Given the description of an element on the screen output the (x, y) to click on. 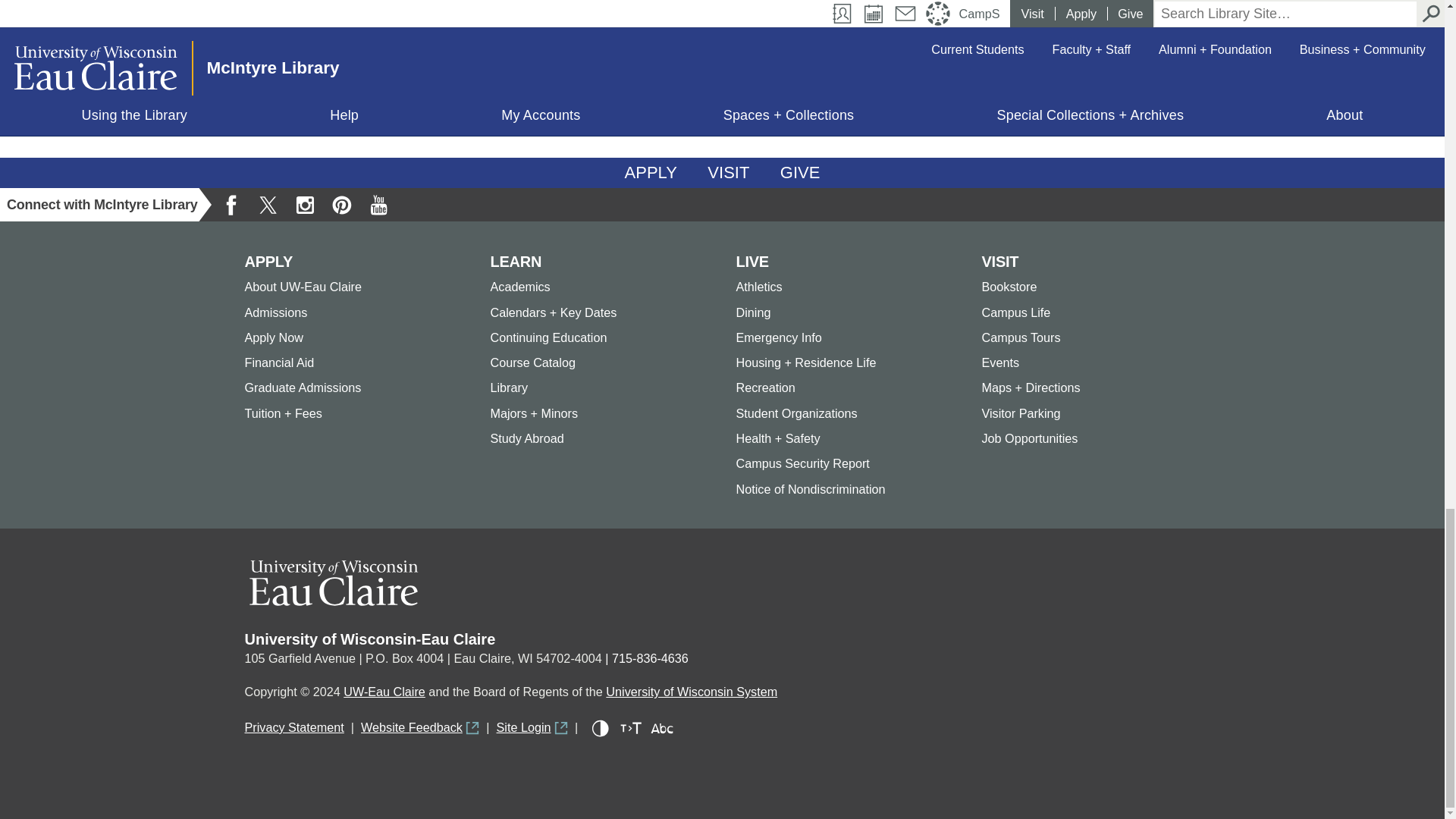
Follow us on Pinterest (341, 204)
Give Now (800, 173)
Increase text size (630, 728)
Like us on Facebook (230, 204)
Change font for dyslexia (661, 728)
Plan a Visit (728, 173)
Subscribe to our YouTube channel (377, 204)
Apply Now (650, 173)
Follow us on Instagram (304, 204)
Follow us on Twitter (268, 204)
